Given the description of an element on the screen output the (x, y) to click on. 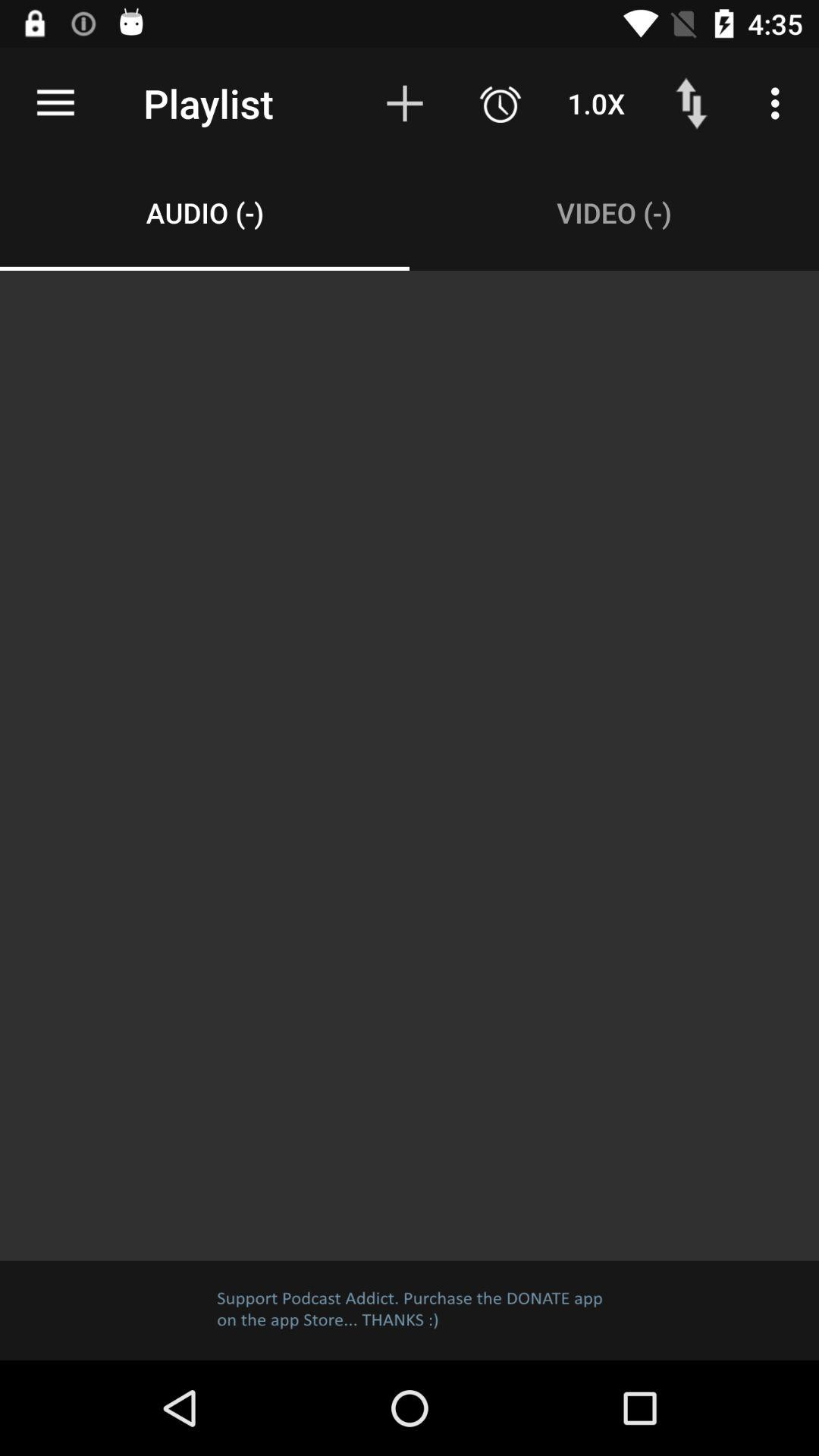
turn on icon above video (-) icon (500, 103)
